Given the description of an element on the screen output the (x, y) to click on. 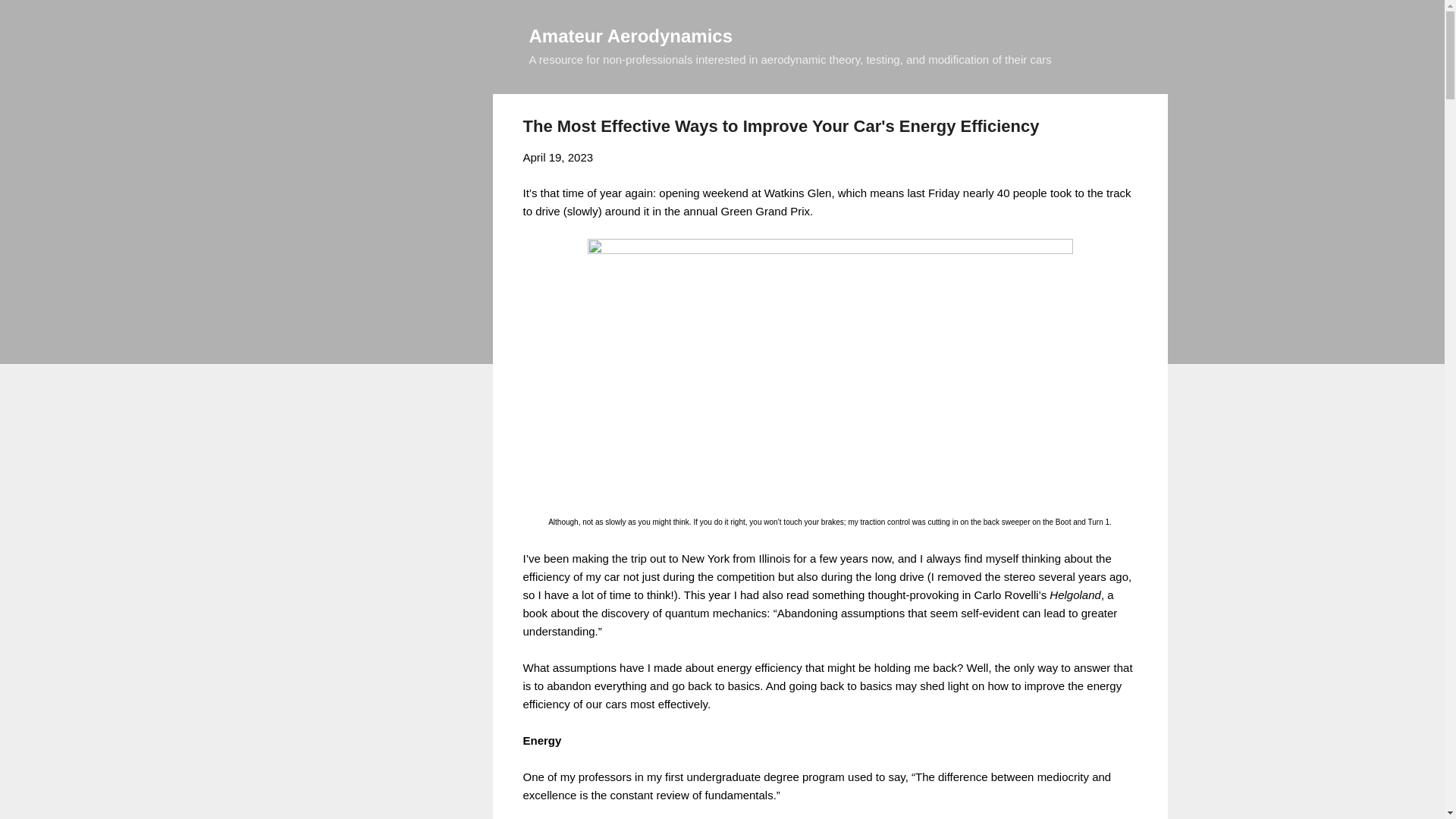
Search (29, 18)
April 19, 2023 (558, 156)
permanent link (558, 156)
Amateur Aerodynamics (631, 35)
